Given the description of an element on the screen output the (x, y) to click on. 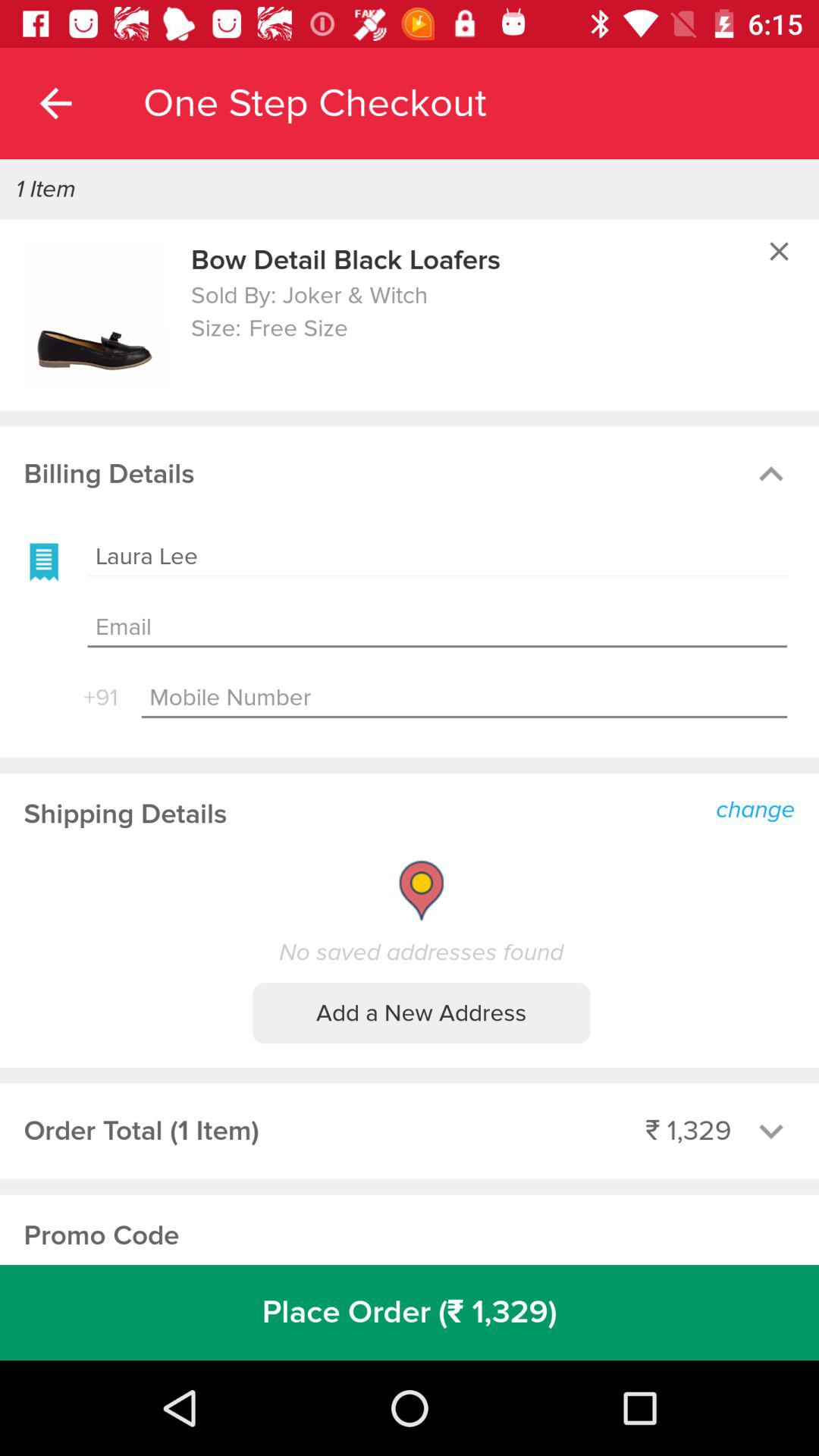
scroll until change icon (759, 807)
